Given the description of an element on the screen output the (x, y) to click on. 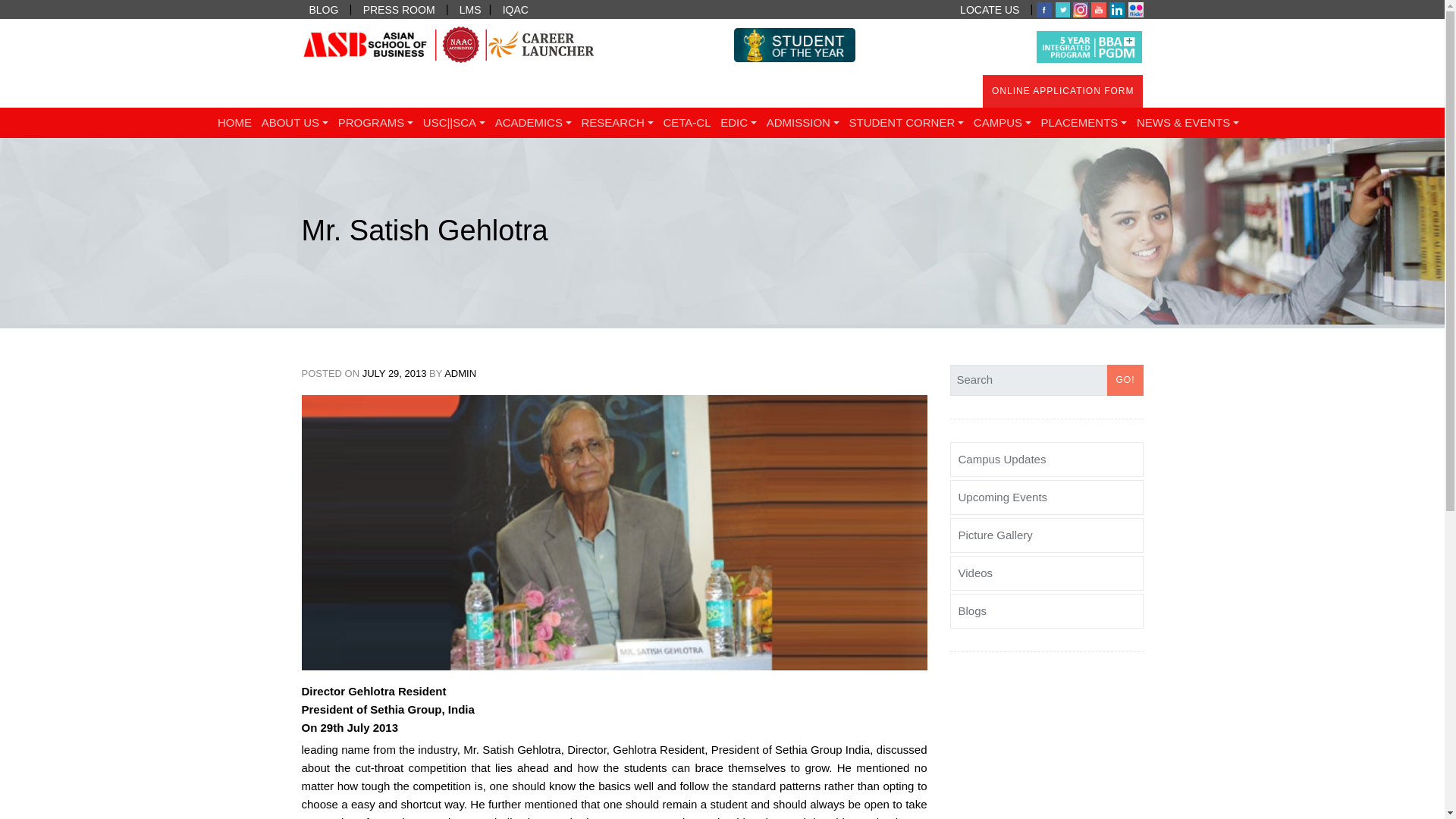
LOCATE US (989, 9)
HOME (234, 122)
Home (234, 122)
IQAC (515, 9)
PRESS ROOM (398, 9)
BLOG (323, 9)
Asian School of Business (153, 138)
PROGRAMS (375, 122)
ONLINE APPLICATION FORM (1062, 91)
About Us (294, 122)
